Given the description of an element on the screen output the (x, y) to click on. 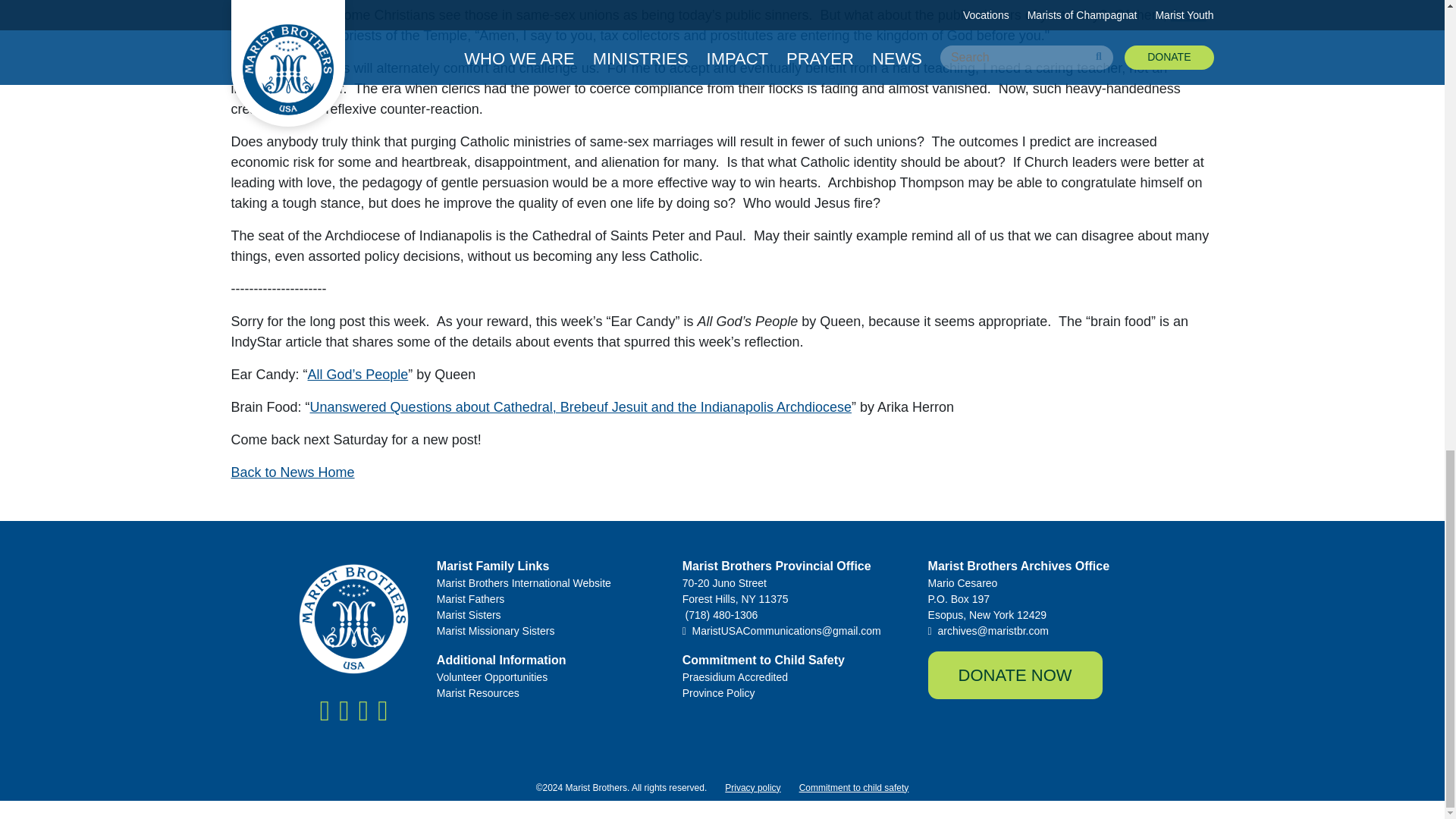
Marist Sisters (550, 615)
Marist Fathers (550, 599)
Back to News Home (291, 472)
Marist Missionary Sisters (550, 631)
Jesus spoke (717, 25)
Marist Brothers International Website (550, 583)
